Given the description of an element on the screen output the (x, y) to click on. 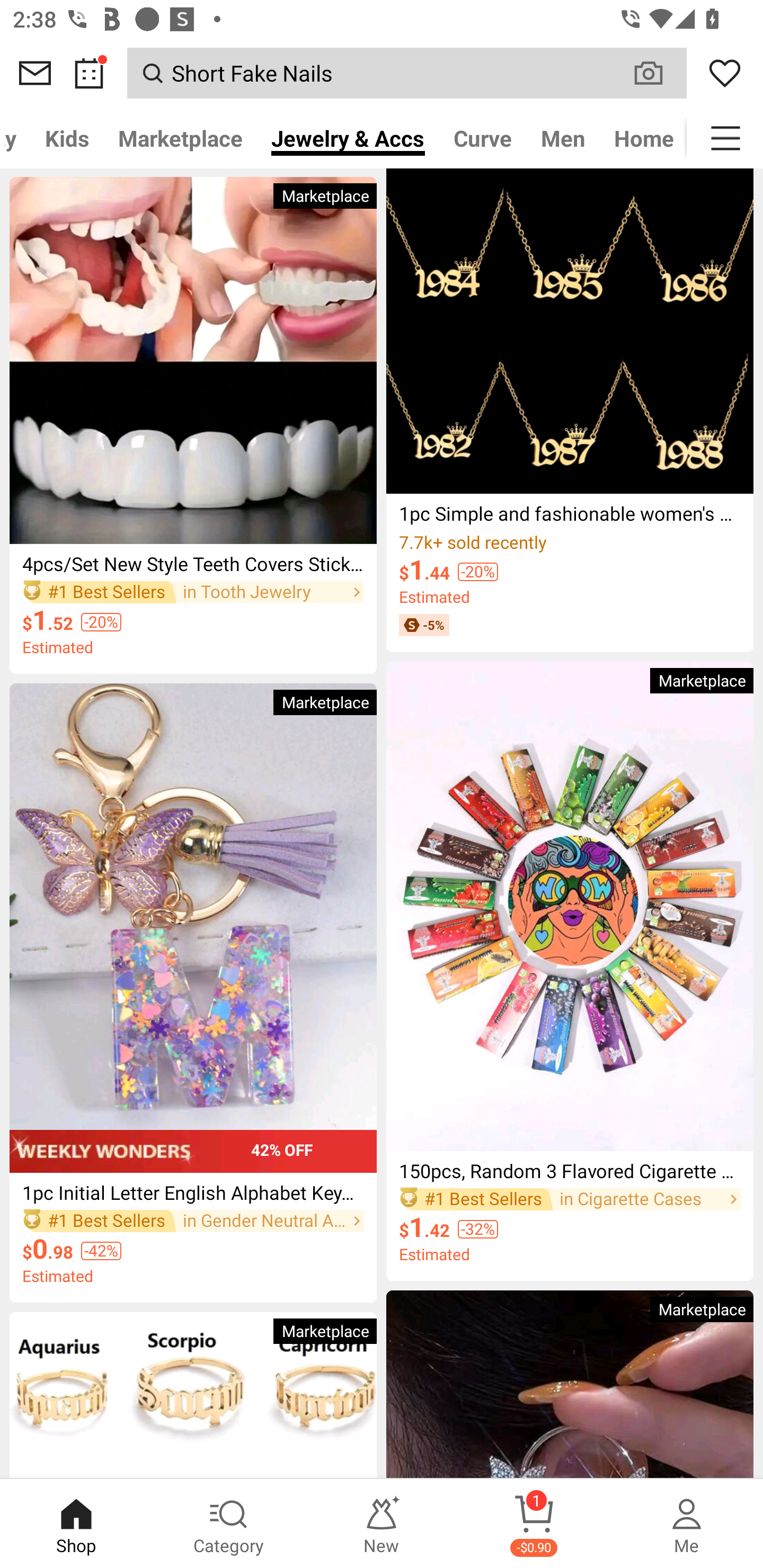
Wishlist (724, 72)
VISUAL SEARCH (657, 72)
Kids (66, 137)
Marketplace (180, 137)
Jewelry & Accs (348, 137)
Curve (482, 137)
Men (562, 137)
Home (642, 137)
#1 Best Sellers in Tooth Jewelry (192, 592)
#1 Best Sellers in Cigarette Cases (569, 1199)
#1 Best Sellers in Gender Neutral Accessories (192, 1221)
Category (228, 1523)
New (381, 1523)
Cart 1 -$0.90 (533, 1523)
Me (686, 1523)
